Given the description of an element on the screen output the (x, y) to click on. 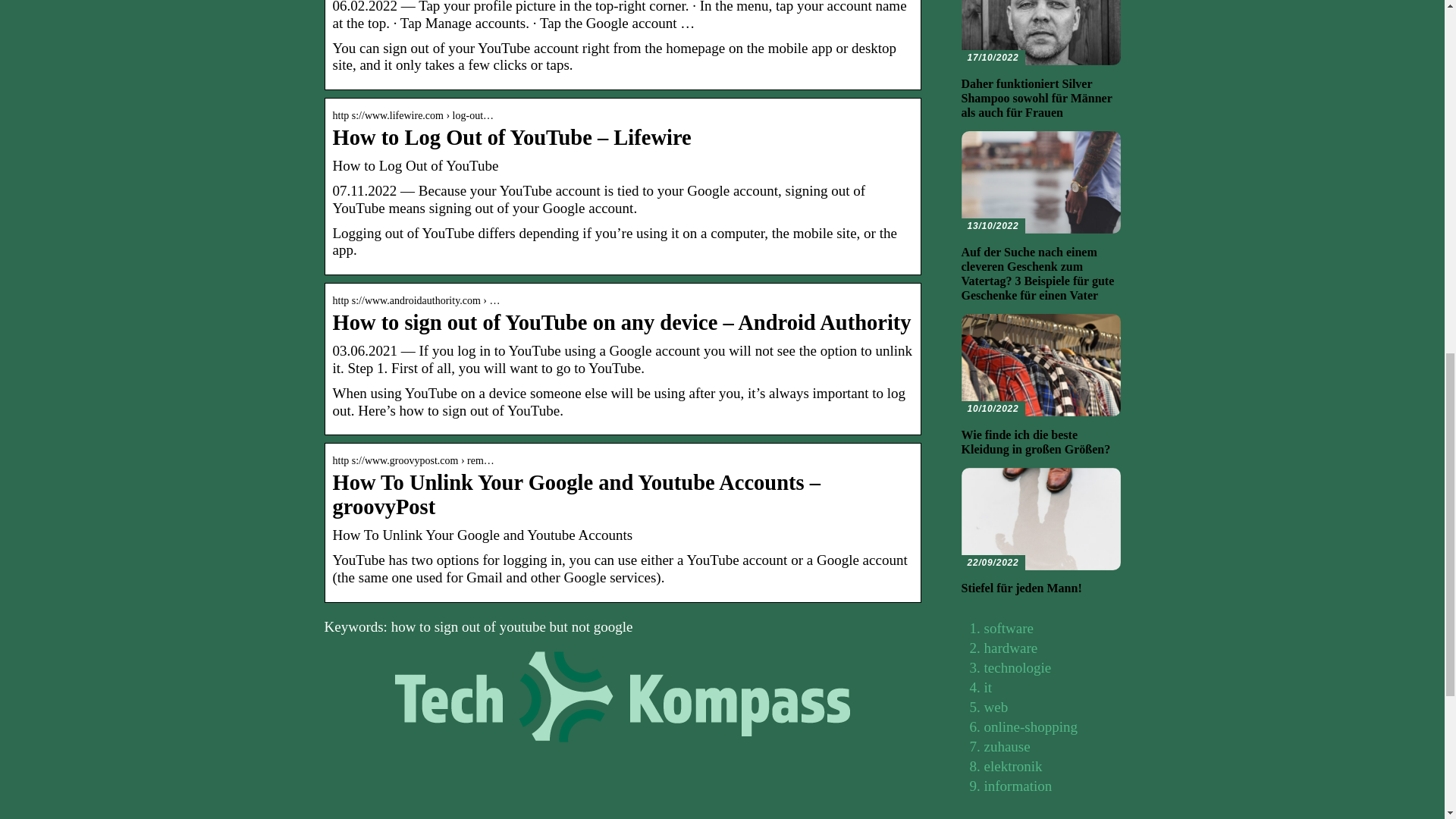
hardware (1011, 647)
information (1018, 785)
software (1008, 627)
web (996, 706)
technologie (1017, 667)
online-shopping (1031, 726)
zuhause (1007, 746)
elektronik (1013, 765)
